Given the description of an element on the screen output the (x, y) to click on. 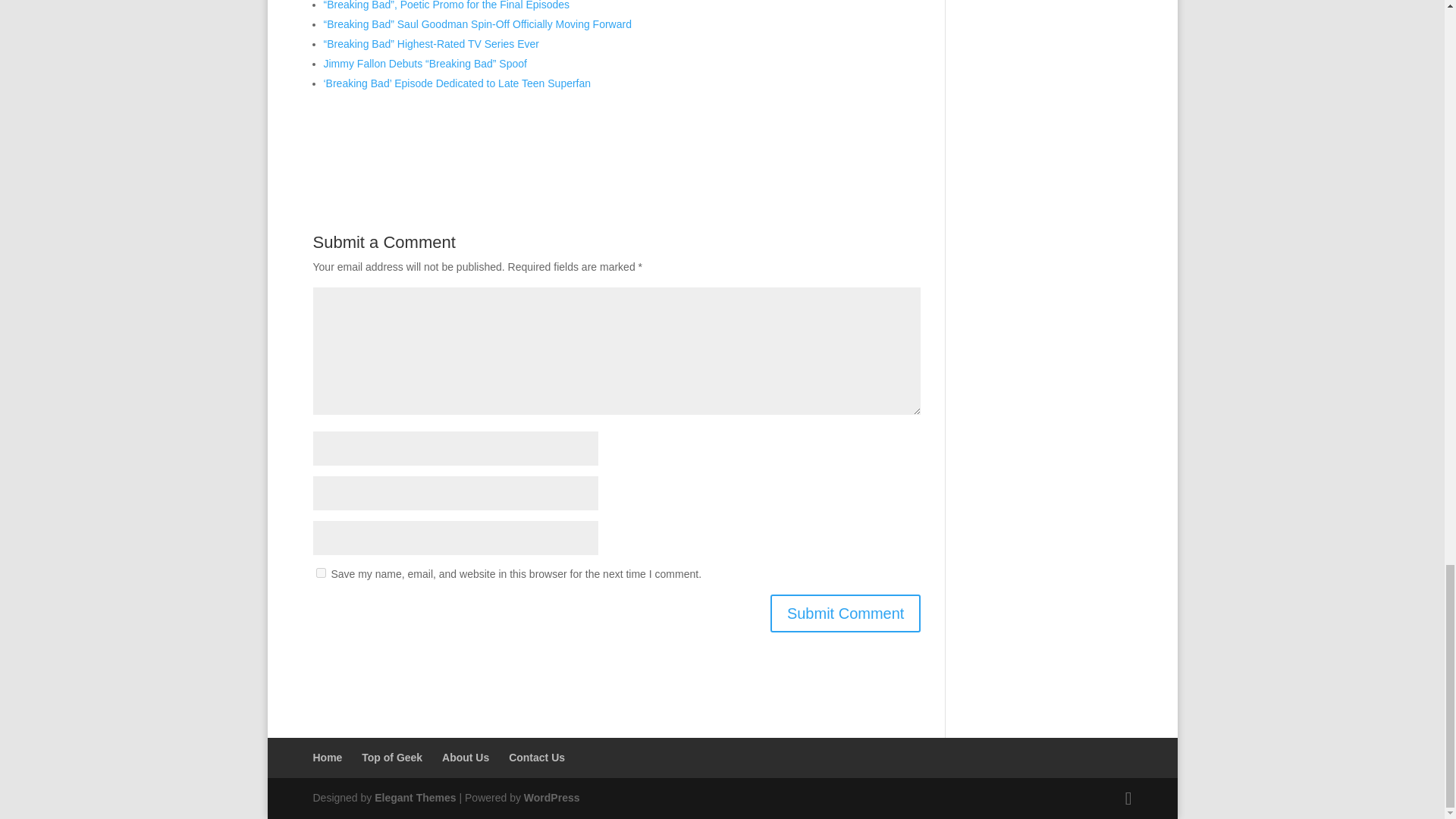
Premium WordPress Themes (414, 797)
Submit Comment (845, 613)
yes (319, 573)
